Given the description of an element on the screen output the (x, y) to click on. 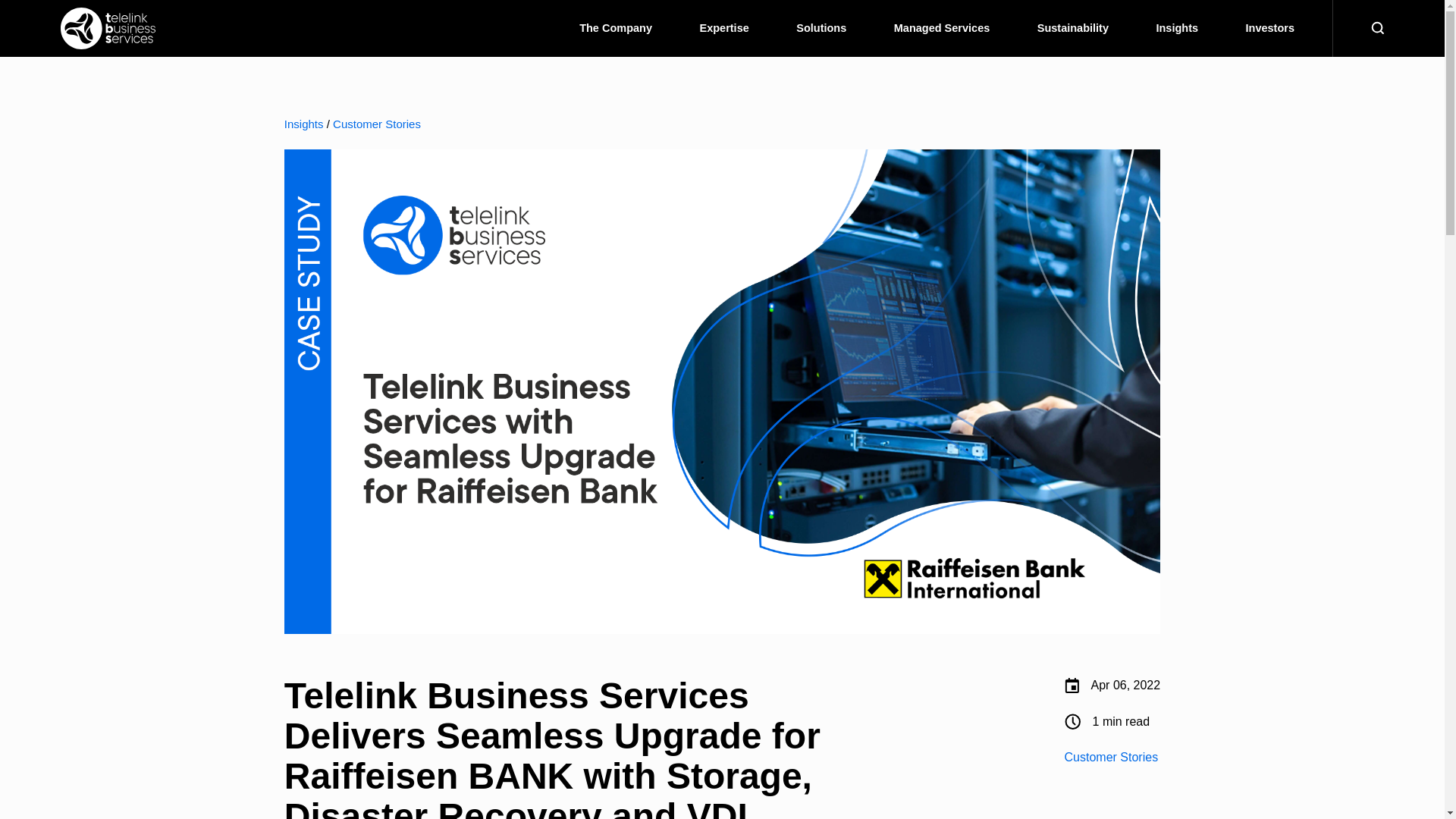
Sustainability (1072, 28)
The Company (615, 28)
Managed Services (941, 28)
Customer Stories (376, 124)
Insights (303, 124)
